Given the description of an element on the screen output the (x, y) to click on. 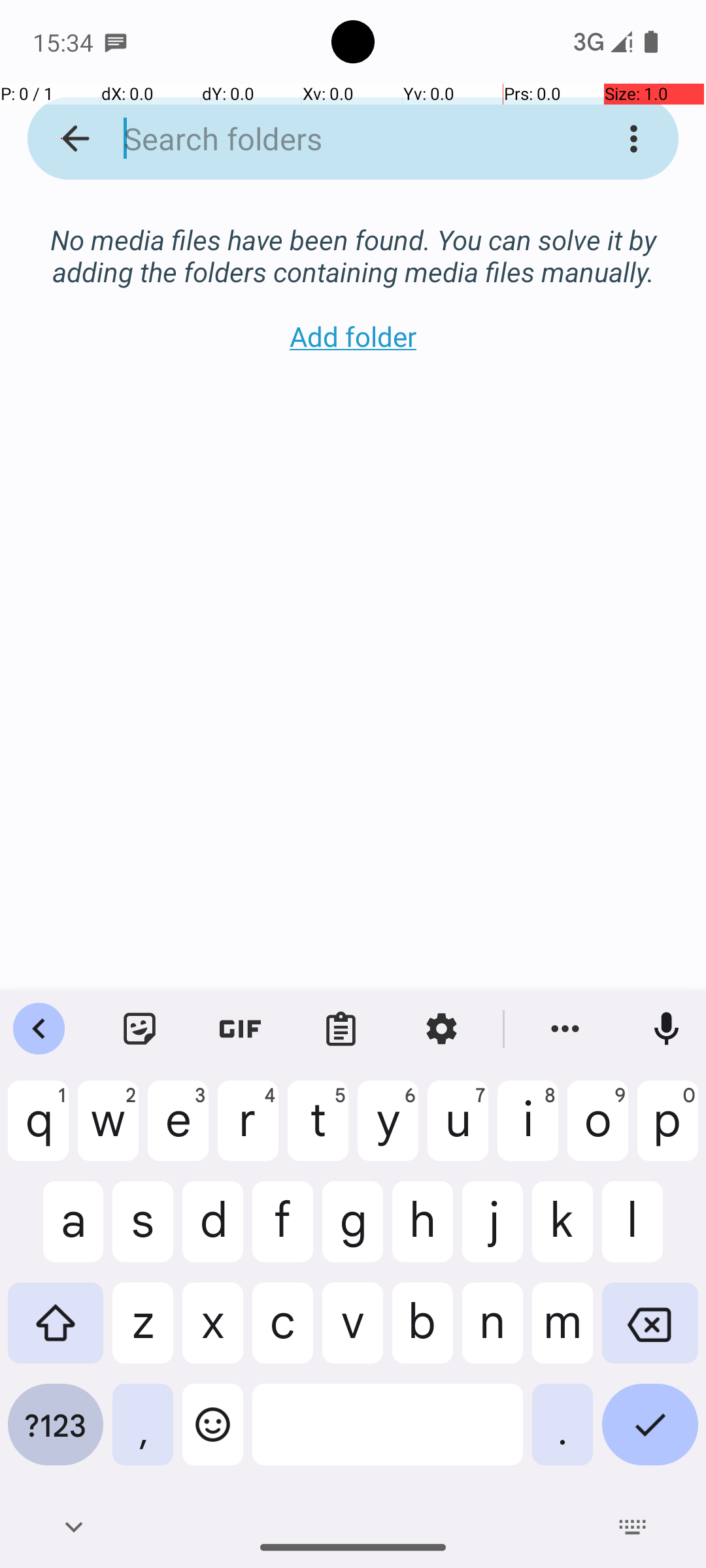
No media files have been found. You can solve it by adding the folders containing media files manually. Element type: android.widget.TextView (353, 241)
Add folder Element type: android.widget.TextView (352, 336)
Search folders Element type: android.widget.EditText (335, 138)
